Given the description of an element on the screen output the (x, y) to click on. 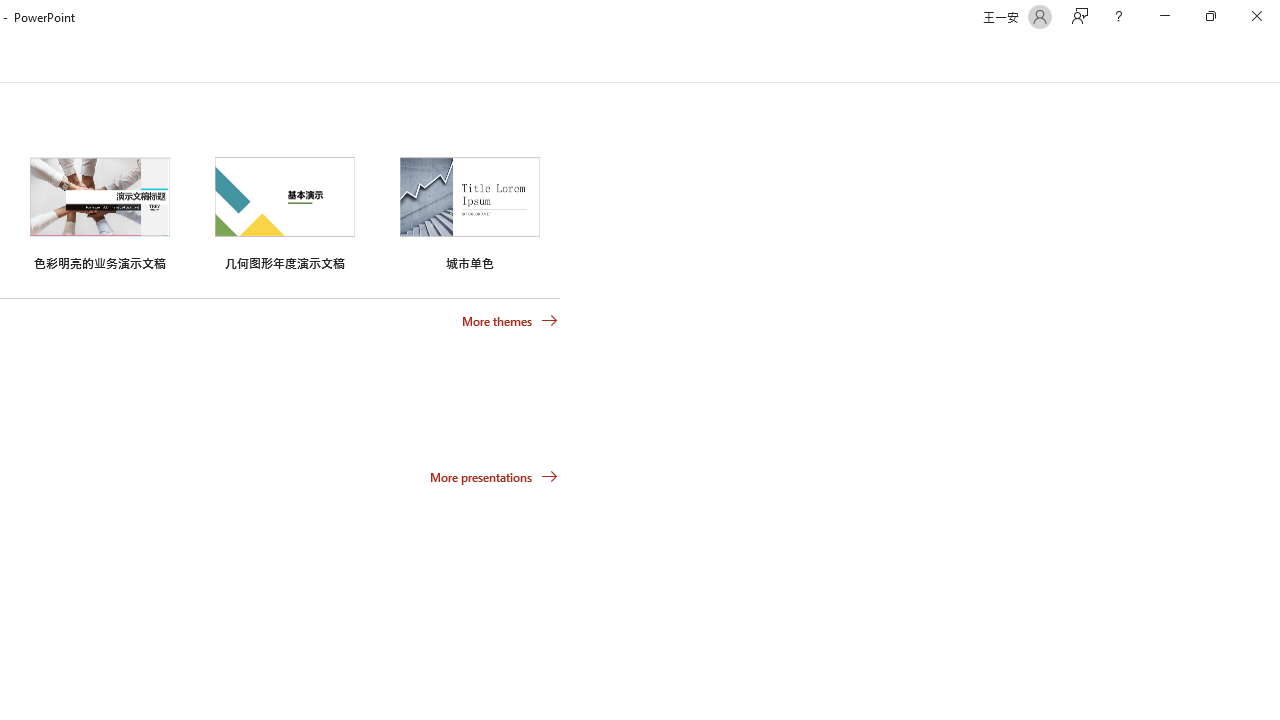
More themes (509, 321)
Close (1256, 16)
Minimize (1164, 16)
Class: NetUIScrollBar (1271, 59)
Help (1118, 16)
Restore Down (1210, 16)
More presentations (493, 476)
